Given the description of an element on the screen output the (x, y) to click on. 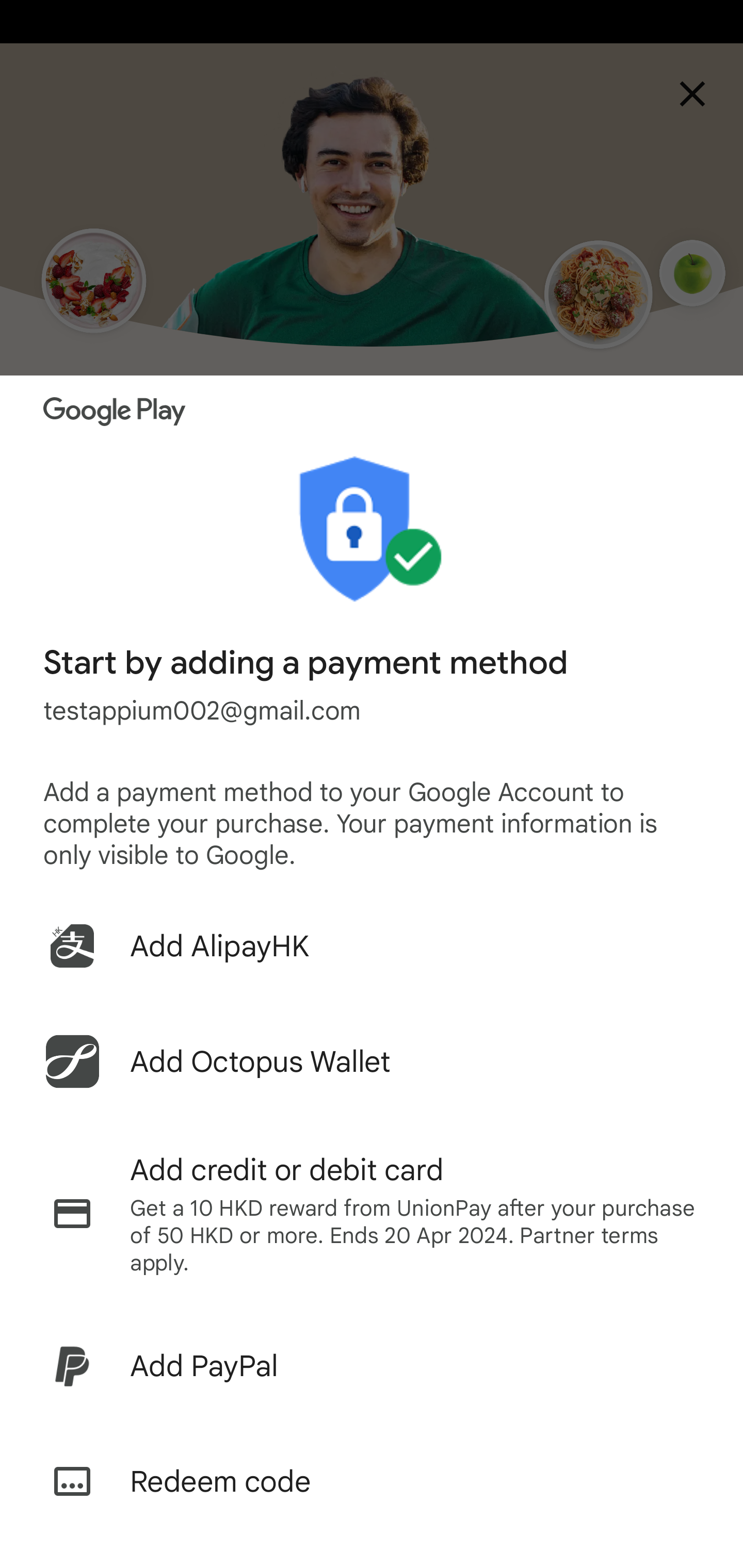
Add AlipayHK (371, 945)
Add Octopus Wallet (371, 1061)
Add PayPal (371, 1365)
Redeem code (371, 1481)
